Given the description of an element on the screen output the (x, y) to click on. 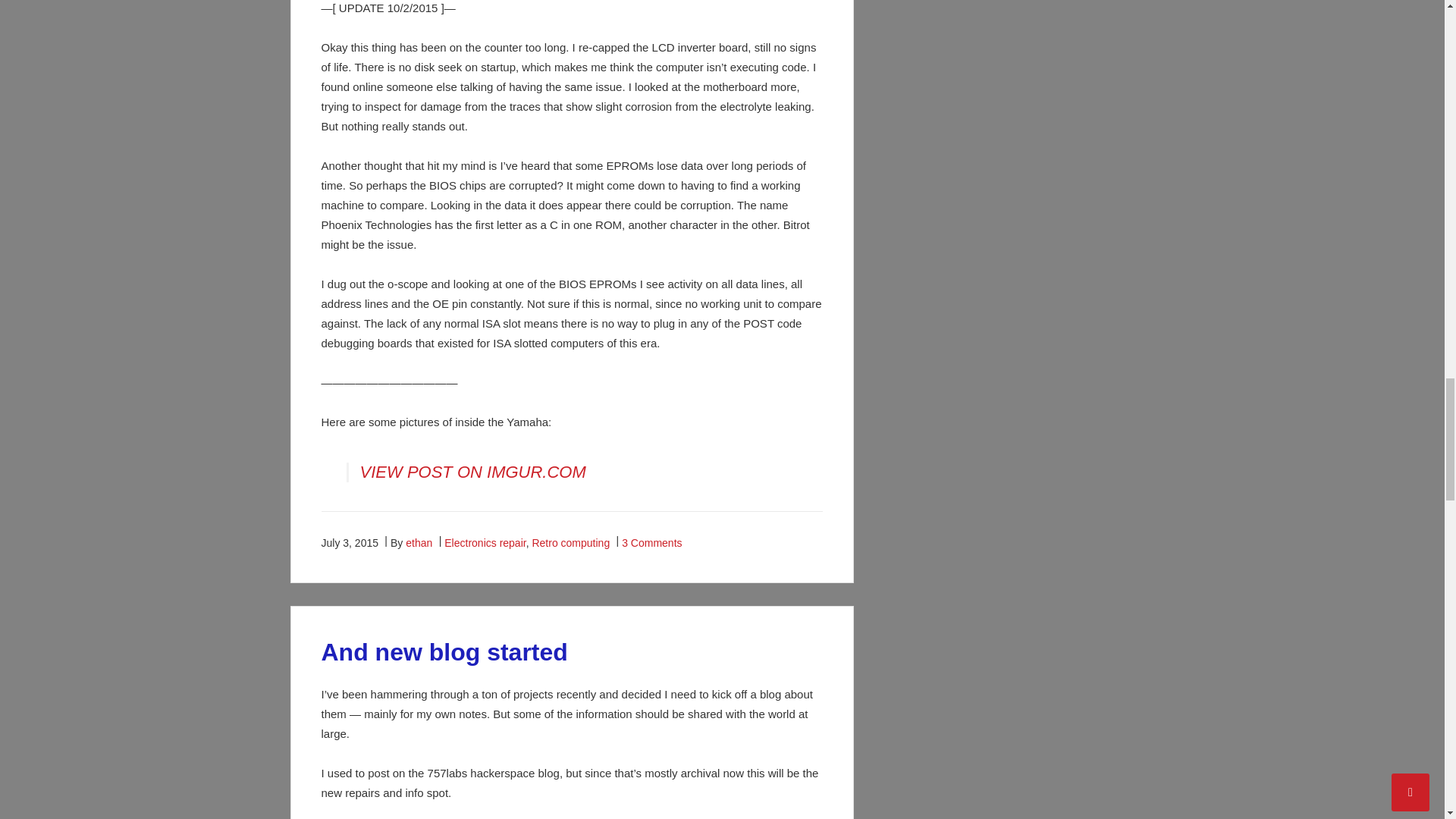
ethan (419, 542)
View all posts by ethan (419, 542)
Retro computing (570, 542)
3 Comments (651, 542)
Electronics repair (484, 542)
And new blog started (444, 651)
VIEW POST ON IMGUR.COM (472, 471)
